Given the description of an element on the screen output the (x, y) to click on. 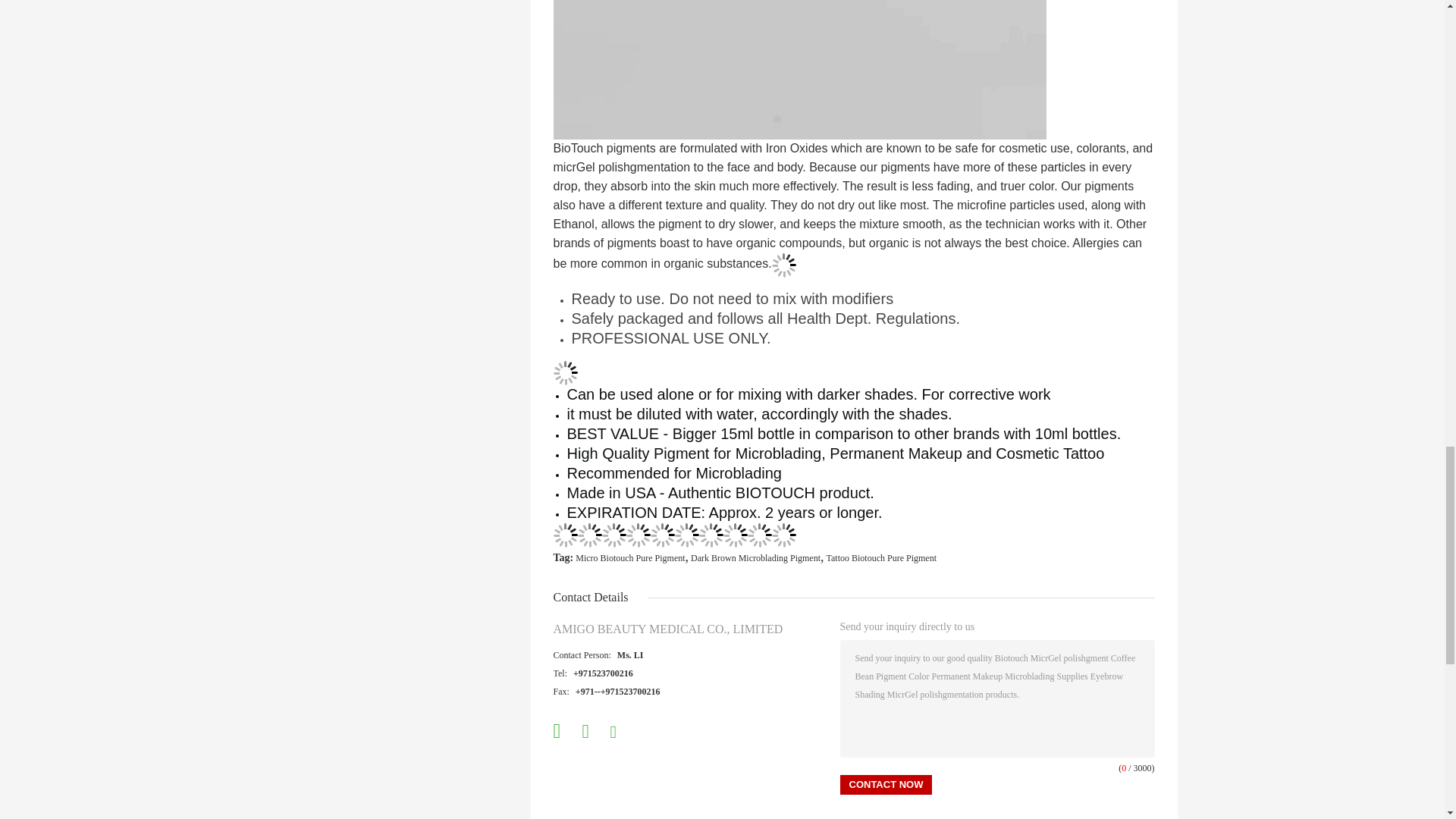
Contact Now (886, 784)
